Given the description of an element on the screen output the (x, y) to click on. 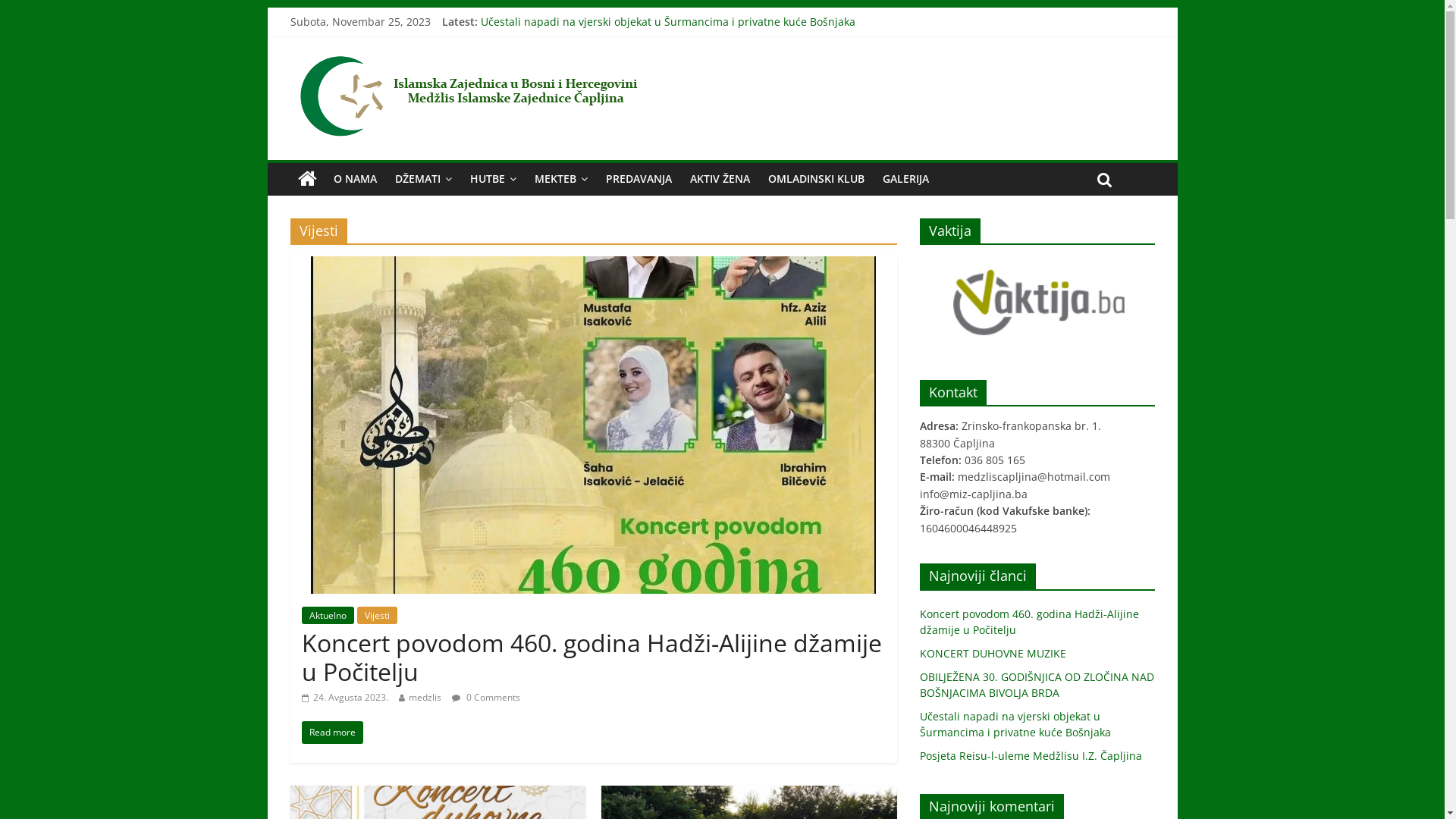
KONCERT DUHOVNE MUZIKE Element type: hover (437, 794)
0 Comments Element type: text (485, 696)
O NAMA Element type: text (354, 178)
HUTBE Element type: text (493, 178)
PREDAVANJA Element type: text (638, 178)
24. Avgusta 2023. Element type: text (344, 696)
medzlis Element type: text (423, 696)
Read more Element type: text (332, 732)
KONCERT DUHOVNE MUZIKE Element type: text (553, 55)
GALERIJA Element type: text (905, 178)
MEKTEB Element type: text (560, 178)
OMLADINSKI KLUB Element type: text (815, 178)
Aktuelno Element type: text (327, 615)
KONCERT DUHOVNE MUZIKE Element type: text (992, 653)
Vijesti Element type: text (376, 615)
